Given the description of an element on the screen output the (x, y) to click on. 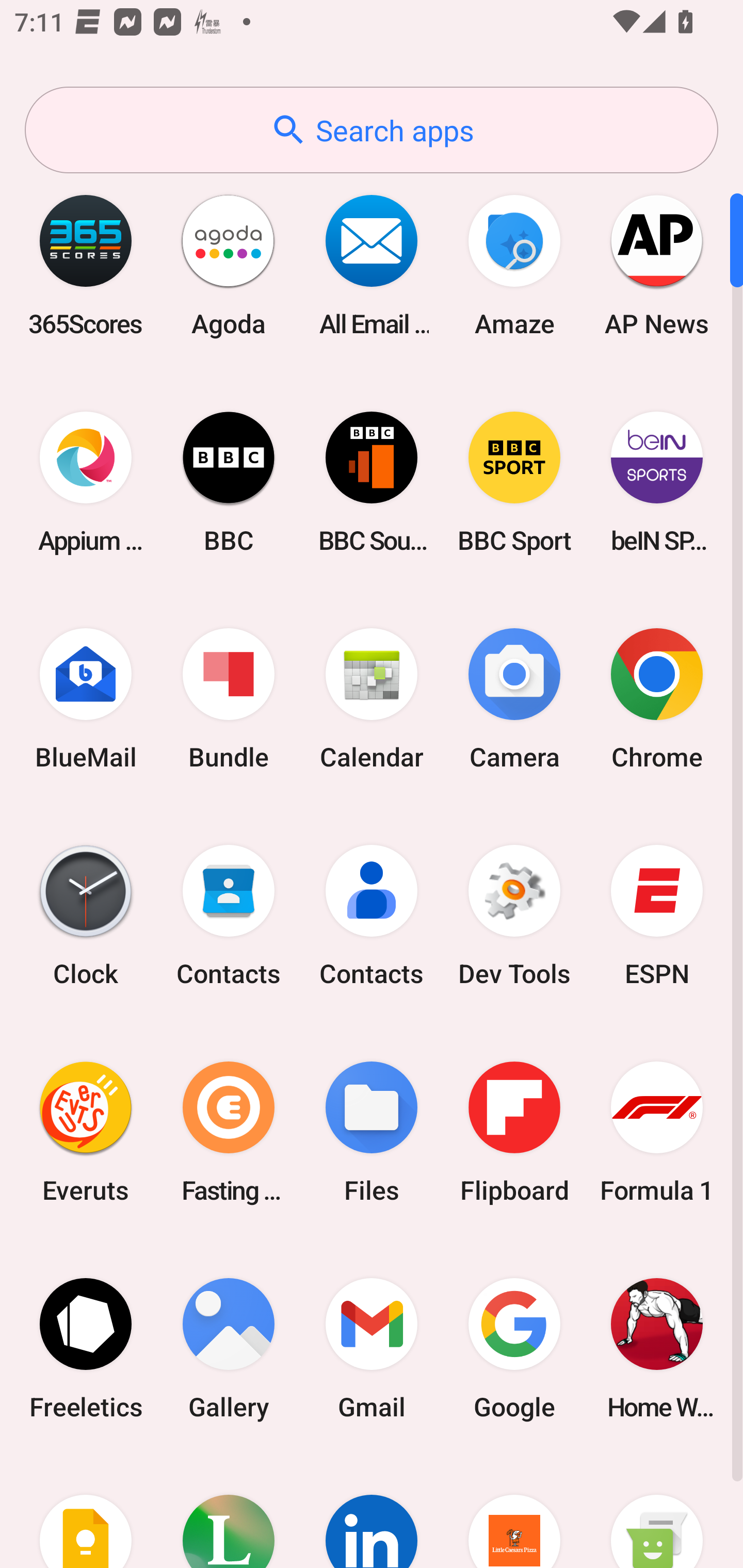
  Search apps (371, 130)
365Scores (85, 264)
Agoda (228, 264)
All Email Connect (371, 264)
Amaze (514, 264)
AP News (656, 264)
Appium Settings (85, 482)
BBC (228, 482)
BBC Sounds (371, 482)
BBC Sport (514, 482)
beIN SPORTS (656, 482)
BlueMail (85, 699)
Bundle (228, 699)
Calendar (371, 699)
Camera (514, 699)
Chrome (656, 699)
Clock (85, 915)
Contacts (228, 915)
Contacts (371, 915)
Dev Tools (514, 915)
ESPN (656, 915)
Everuts (85, 1131)
Fasting Coach (228, 1131)
Files (371, 1131)
Flipboard (514, 1131)
Formula 1 (656, 1131)
Freeletics (85, 1348)
Gallery (228, 1348)
Gmail (371, 1348)
Google (514, 1348)
Home Workout (656, 1348)
Keep Notes (85, 1512)
Lifesum (228, 1512)
LinkedIn (371, 1512)
Little Caesars Pizza (514, 1512)
Messaging (656, 1512)
